Given the description of an element on the screen output the (x, y) to click on. 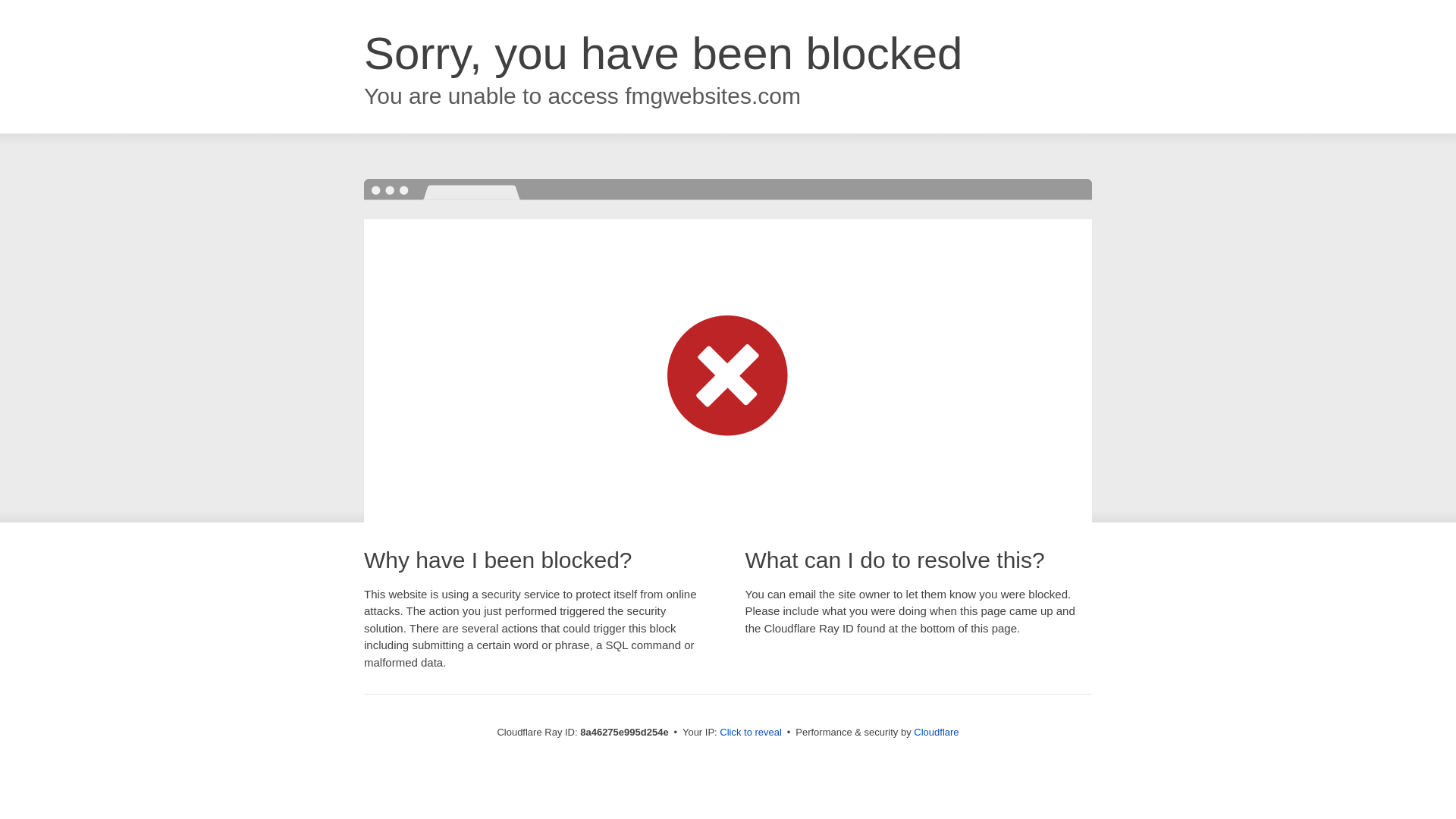
Click to reveal (750, 732)
Cloudflare (936, 731)
